Given the description of an element on the screen output the (x, y) to click on. 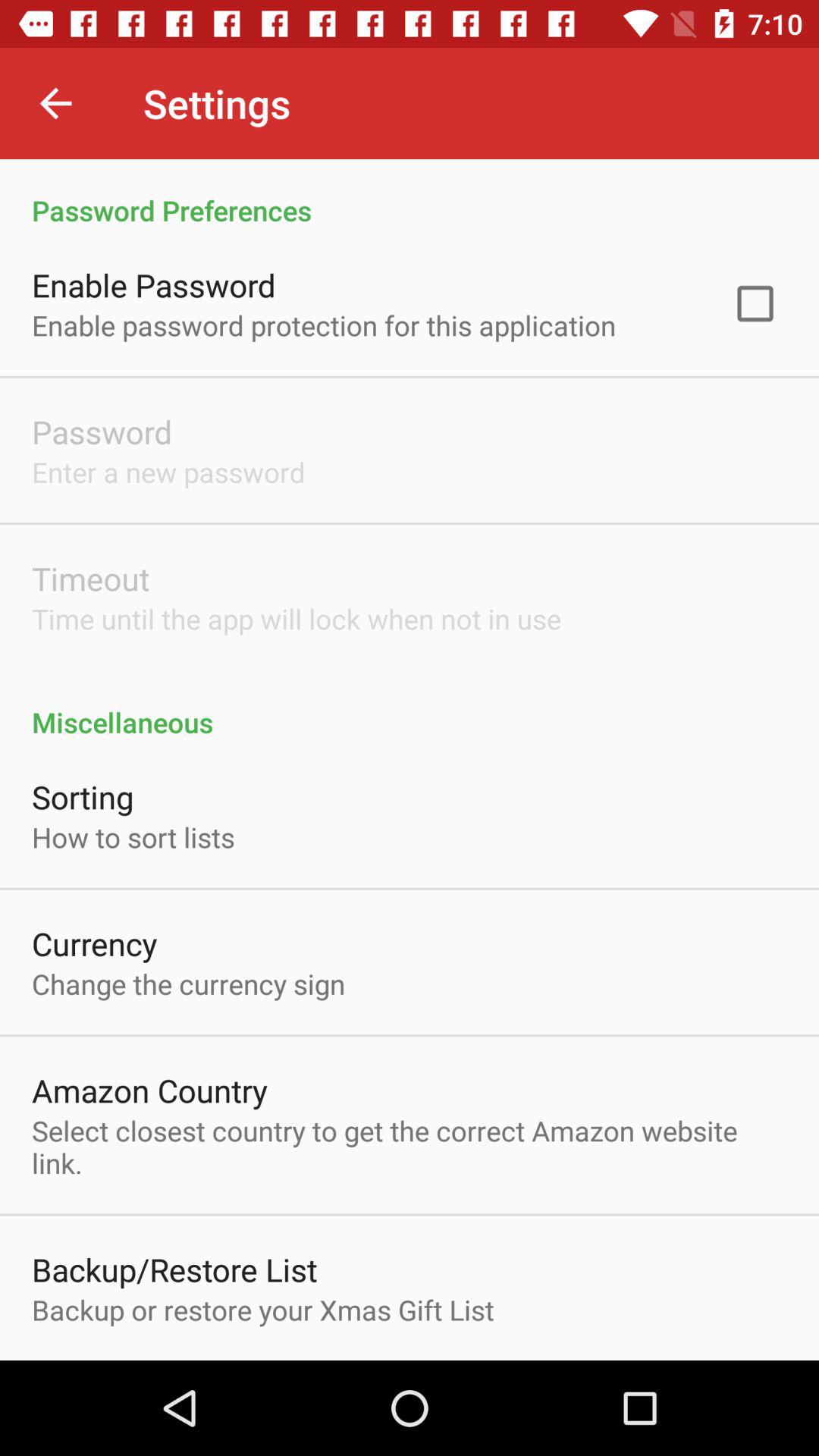
choose the icon next to enable password protection icon (755, 303)
